Given the description of an element on the screen output the (x, y) to click on. 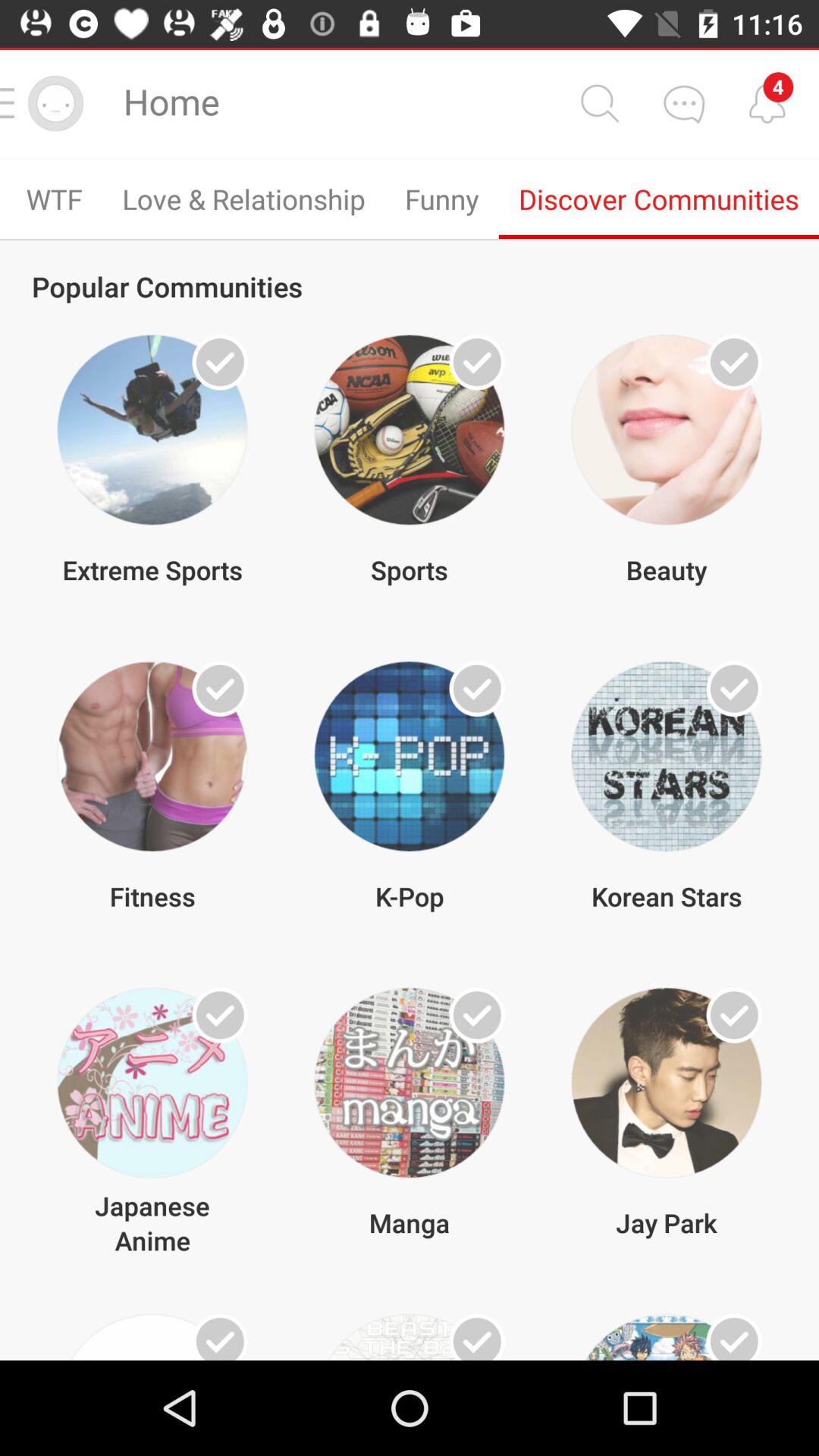
chat with support (683, 103)
